Given the description of an element on the screen output the (x, y) to click on. 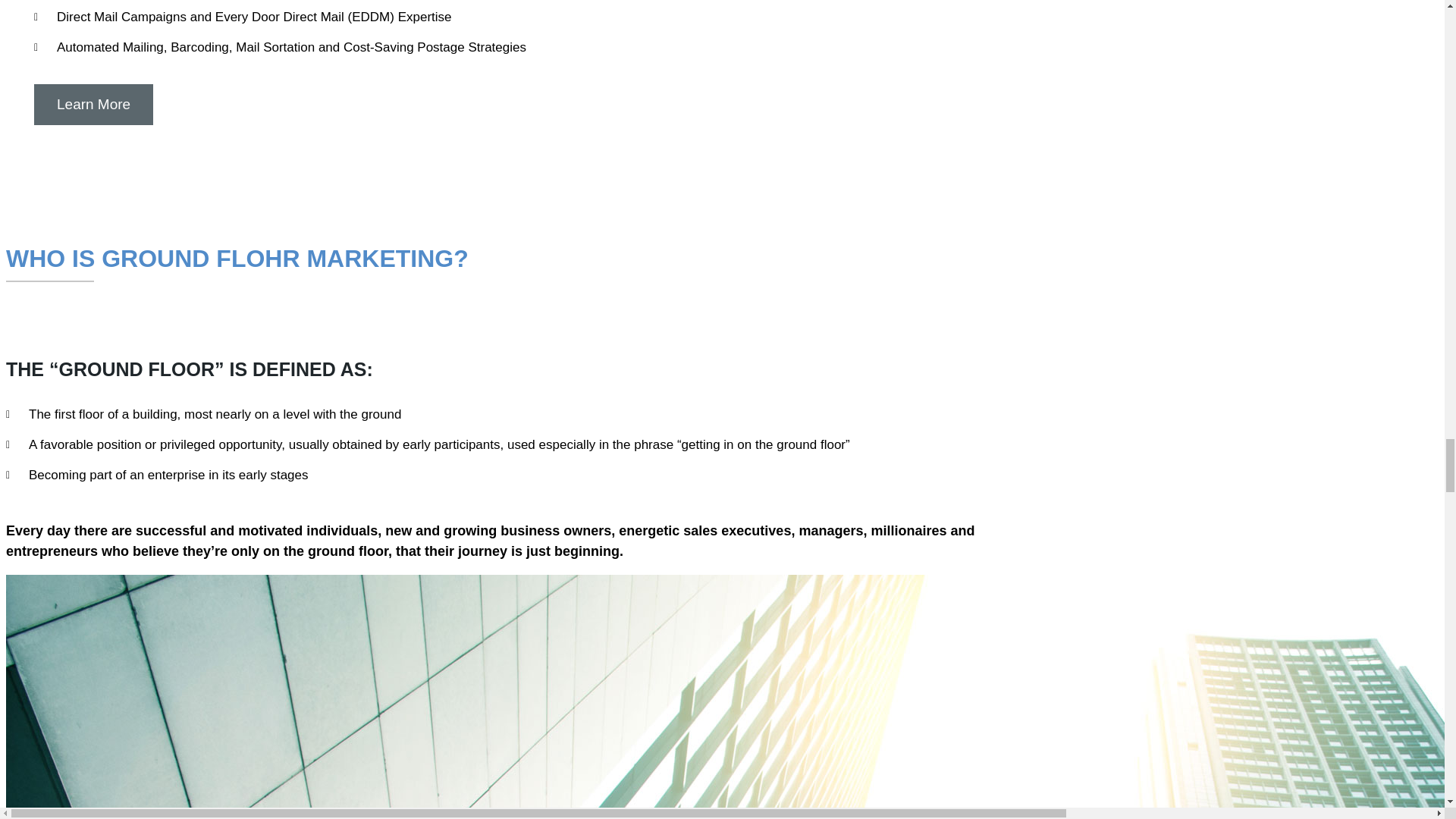
Learn More (92, 104)
